Given the description of an element on the screen output the (x, y) to click on. 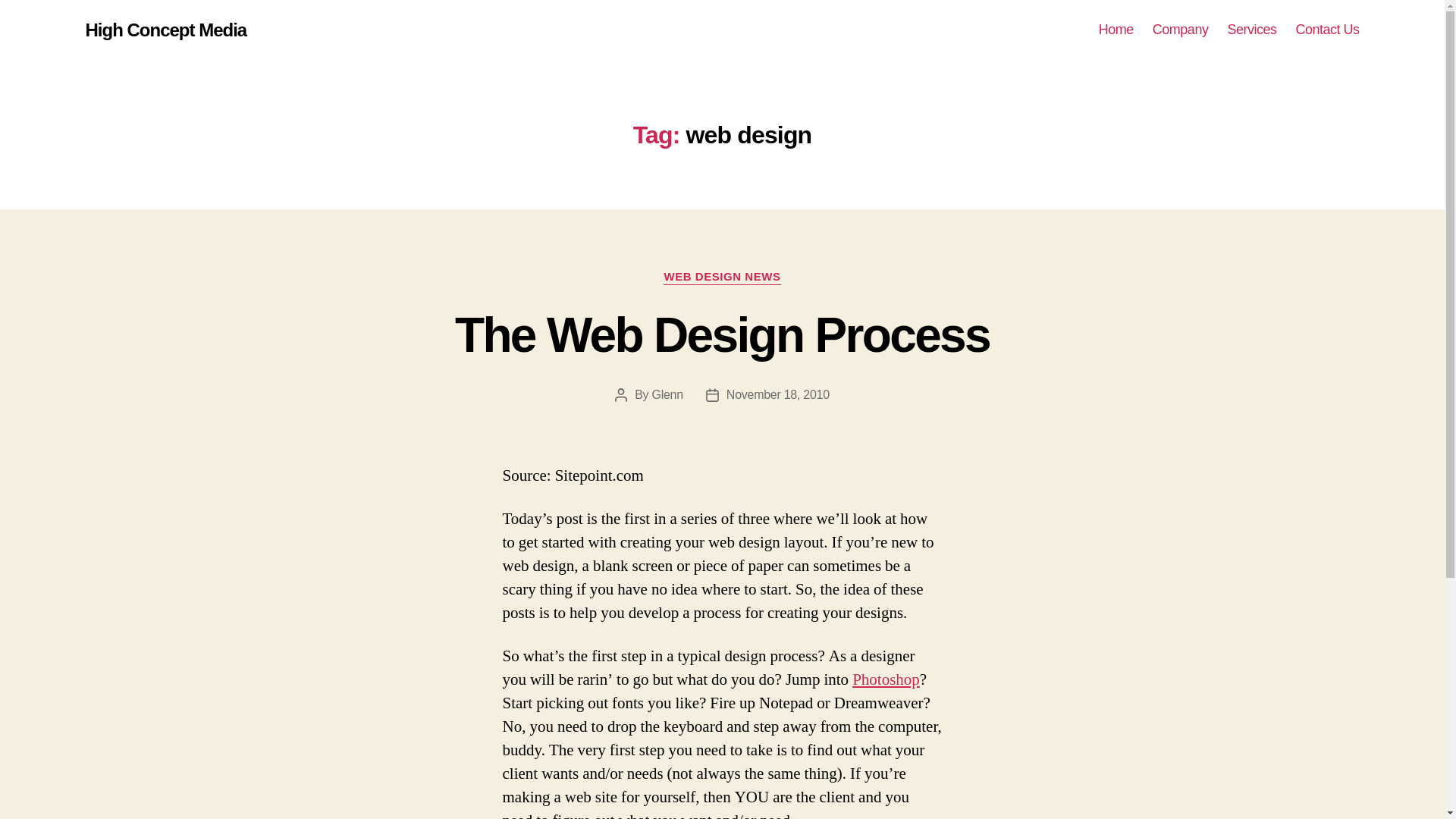
Company (1180, 30)
The Web Design Process (722, 334)
Contact Us (1326, 30)
Photoshop (885, 679)
WEB DESIGN NEWS (721, 277)
Photoshop (885, 679)
Services (1251, 30)
Home (1116, 30)
November 18, 2010 (777, 394)
Glenn (667, 394)
